Given the description of an element on the screen output the (x, y) to click on. 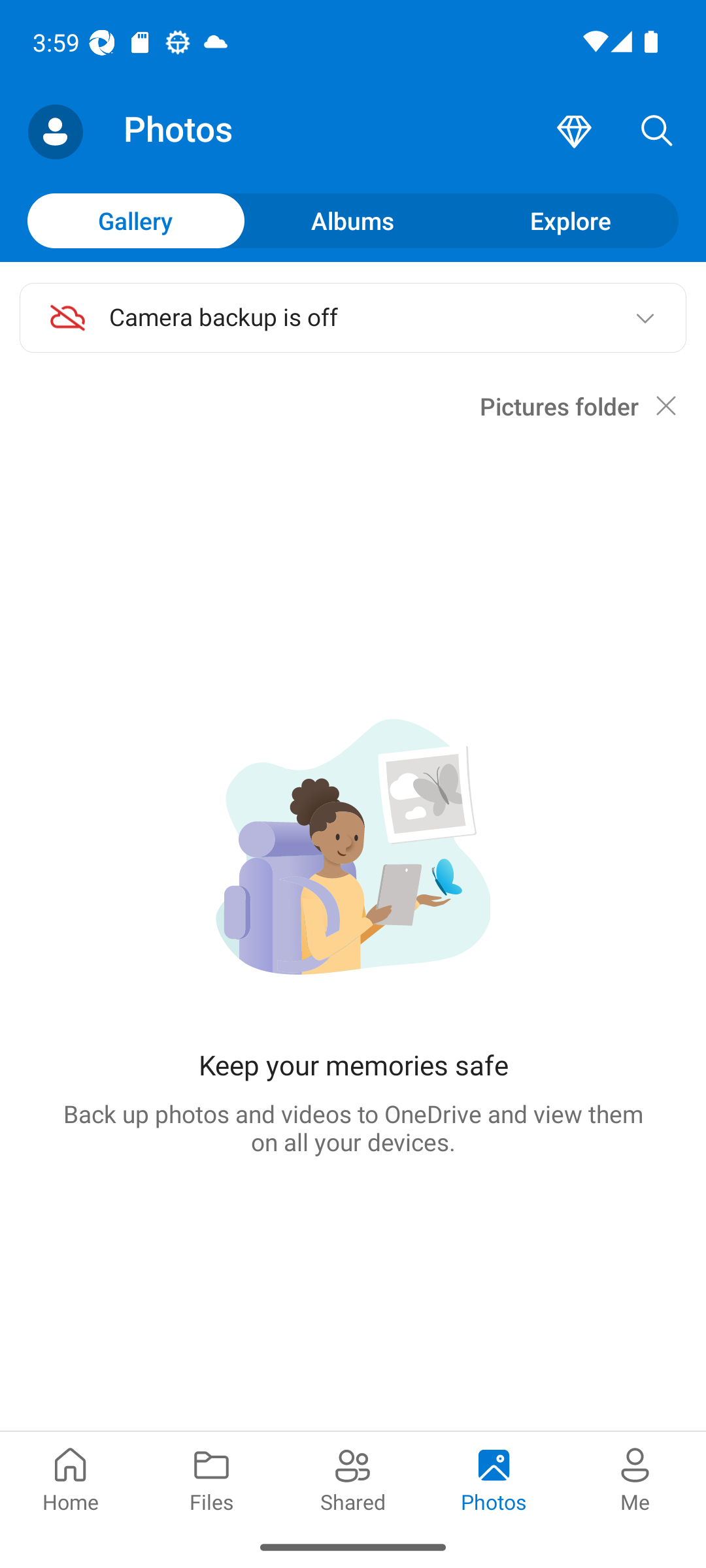
Account switcher (55, 131)
Premium button (574, 131)
Search button (656, 131)
Albums (352, 219)
Explore (569, 219)
Expand camera status banner (645, 318)
Home pivot Home (70, 1478)
Files pivot Files (211, 1478)
Shared pivot Shared (352, 1478)
Me pivot Me (635, 1478)
